Given the description of an element on the screen output the (x, y) to click on. 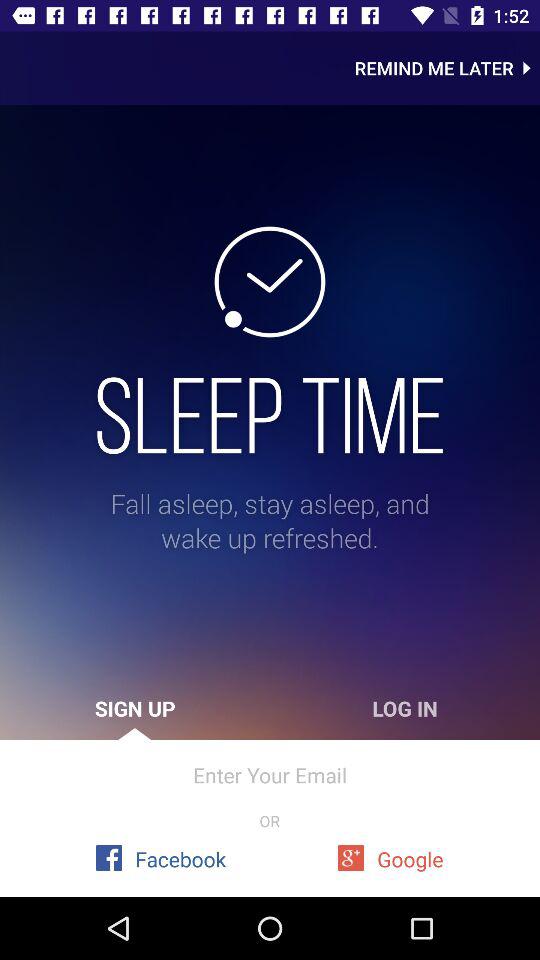
select the item above enter your email icon (135, 707)
